Given the description of an element on the screen output the (x, y) to click on. 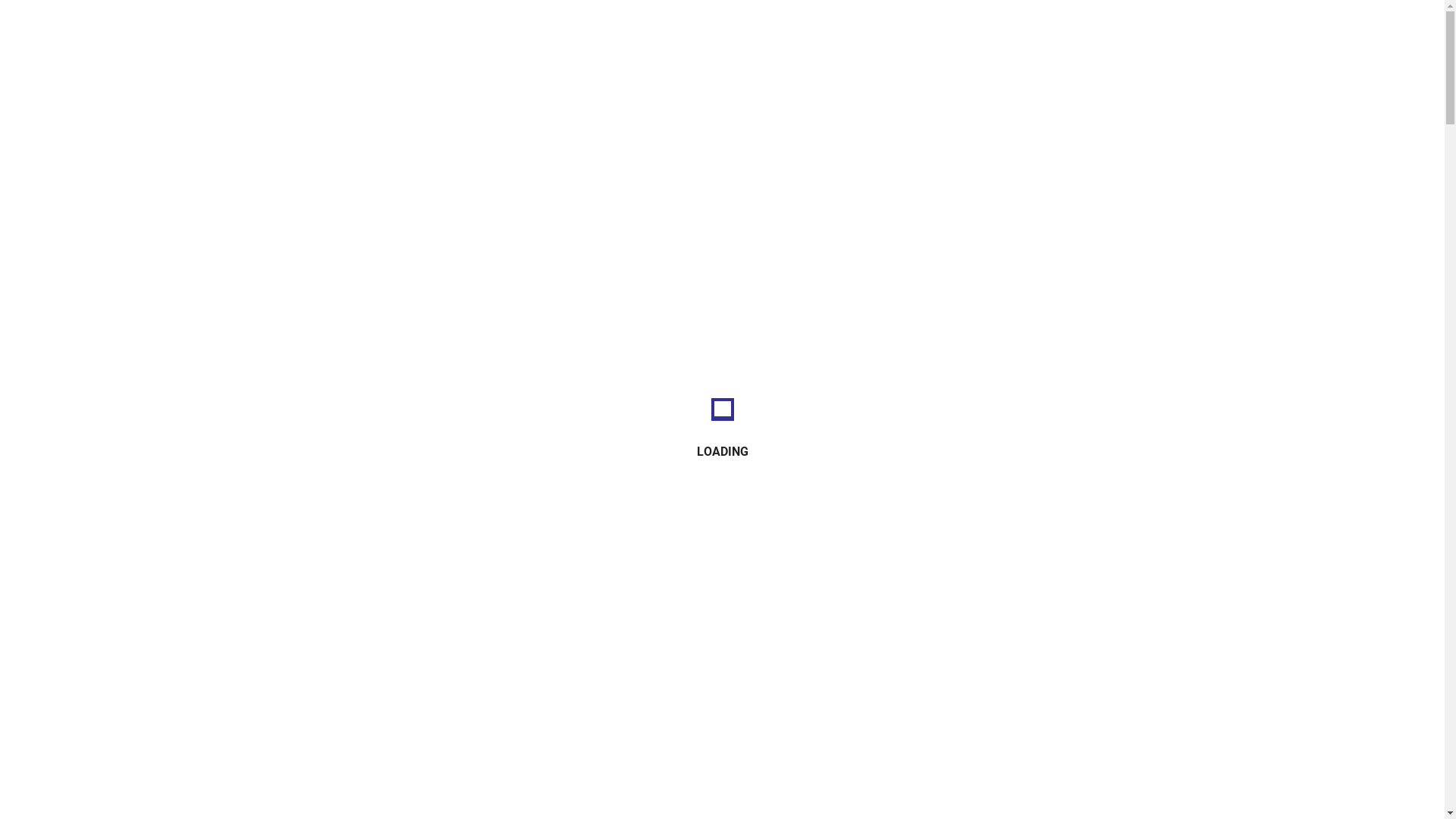
Online privacy issues Element type: text (345, 634)
Credit card or other payment details Element type: text (384, 405)
How do we hold personal information and keep it secure? Element type: text (442, 601)
How can you contact us? Element type: text (356, 731)
Home Element type: text (962, 30)
Contact Element type: text (1026, 30)
Do we use your personal information for direct marketing? Element type: text (444, 536)
How do we collect personal information? Element type: text (398, 438)
How can you make a privacy complaint? Element type: text (397, 699)
www.iap2conference.com.au Element type: text (926, 202)
How can you access and correct your personal information? Element type: text (449, 666)
To whom do we disclose personal information? Element type: text (415, 568)
www.iap2.org.au Element type: text (777, 202)
Can you deal with us without identifying yourself? Element type: text (422, 471)
IAP2 Element type: text (1119, 30)
What personal information do we collect? Element type: text (400, 373)
